Given the description of an element on the screen output the (x, y) to click on. 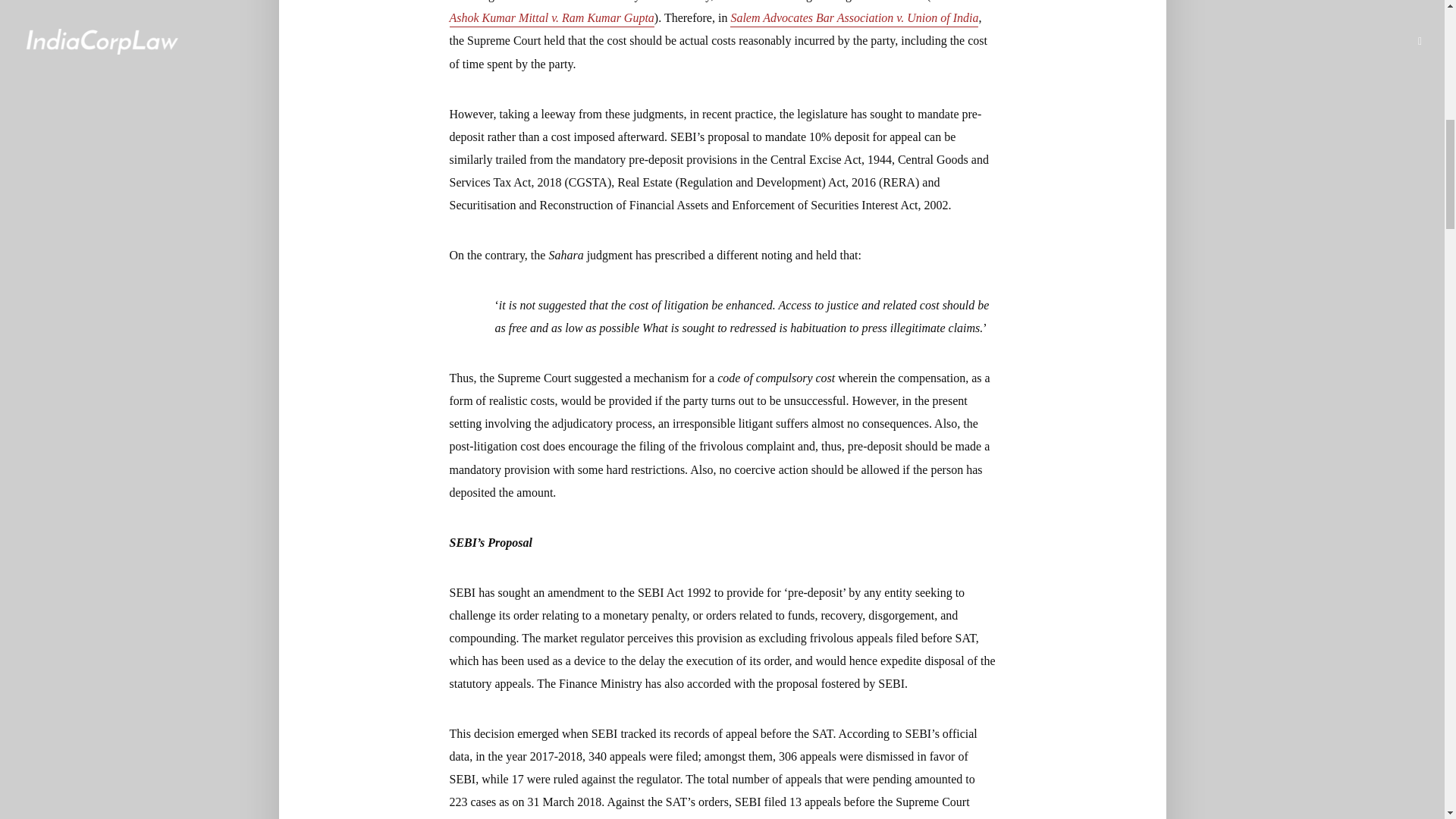
Ashok Kumar Mittal v. Ram Kumar Gupta (550, 19)
Salem Advocates Bar Association v. Union of India (854, 19)
